Given the description of an element on the screen output the (x, y) to click on. 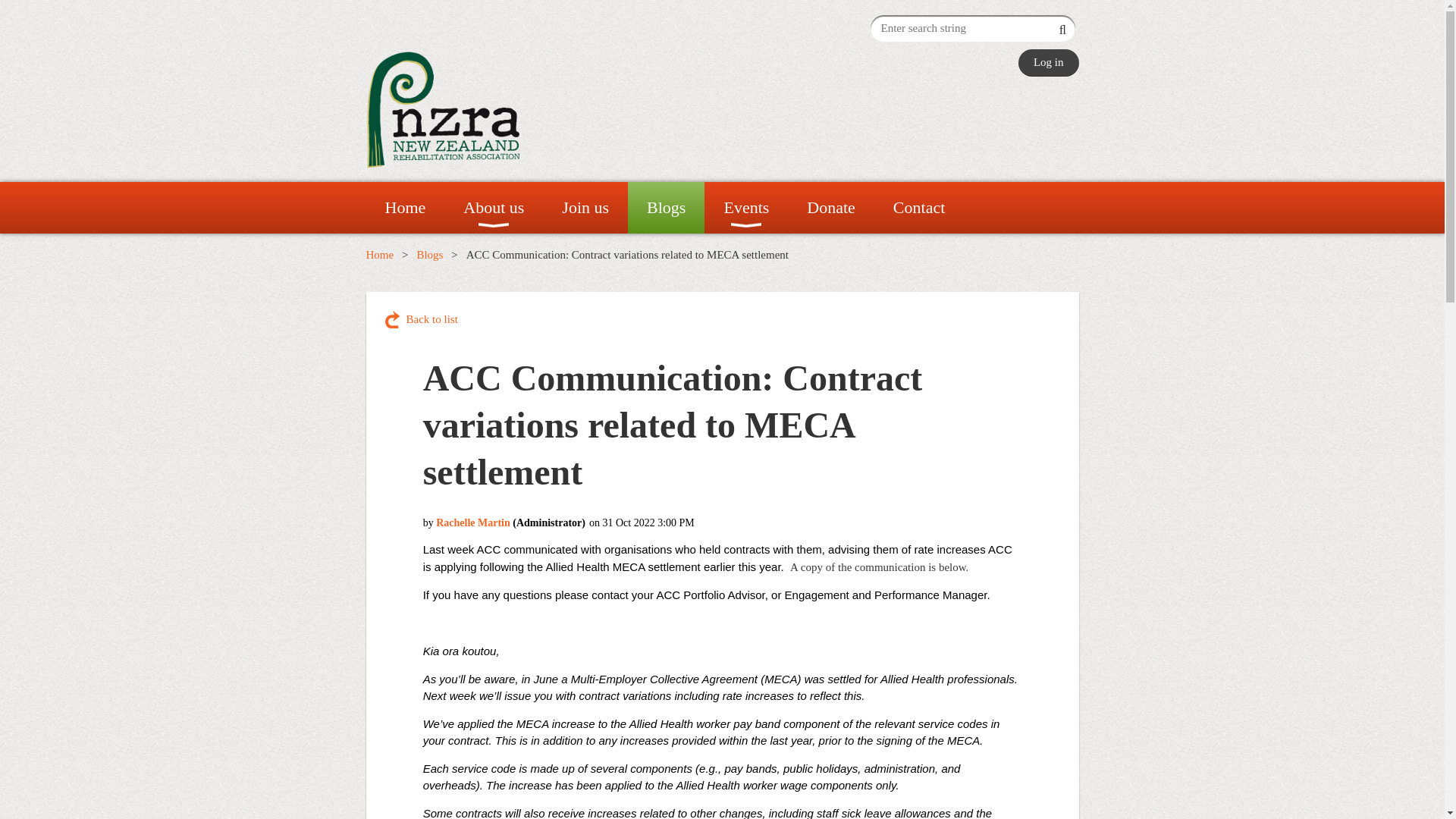
Blogs (429, 254)
Donate (831, 207)
Contact (919, 207)
About us (493, 207)
Home (404, 207)
Events (745, 207)
Contact (919, 207)
Back to list (421, 319)
Donate (831, 207)
Blogs (665, 207)
Home (404, 207)
About us (493, 207)
Join us (585, 207)
Events (745, 207)
Rachelle Martin (473, 522)
